Given the description of an element on the screen output the (x, y) to click on. 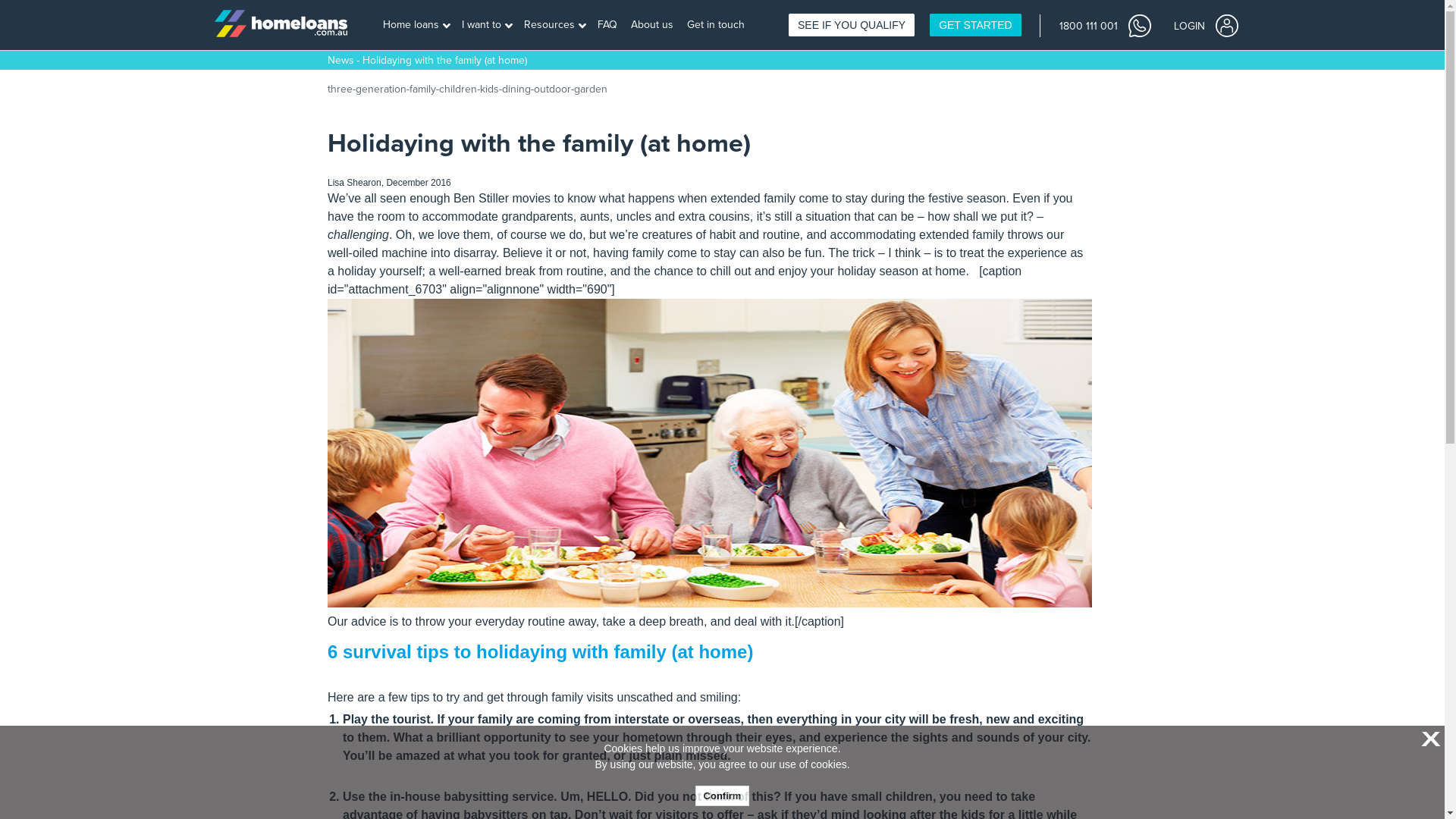
Get in touch Element type: text (716, 25)
Home loans Element type: text (416, 25)
I want to Element type: text (486, 25)
FAQ Element type: text (608, 25)
LOGIN
  Element type: text (1205, 24)
1800 111 001
  Element type: text (1104, 24)
News Element type: text (340, 59)
Confirm Element type: text (722, 795)
Resources Element type: text (555, 25)
About us Element type: text (652, 25)
GET STARTED Element type: text (974, 24)
SEE IF YOU QUALIFY Element type: text (851, 24)
X Element type: text (1428, 739)
Holidaying with the family (at home) Element type: text (444, 59)
